Given the description of an element on the screen output the (x, y) to click on. 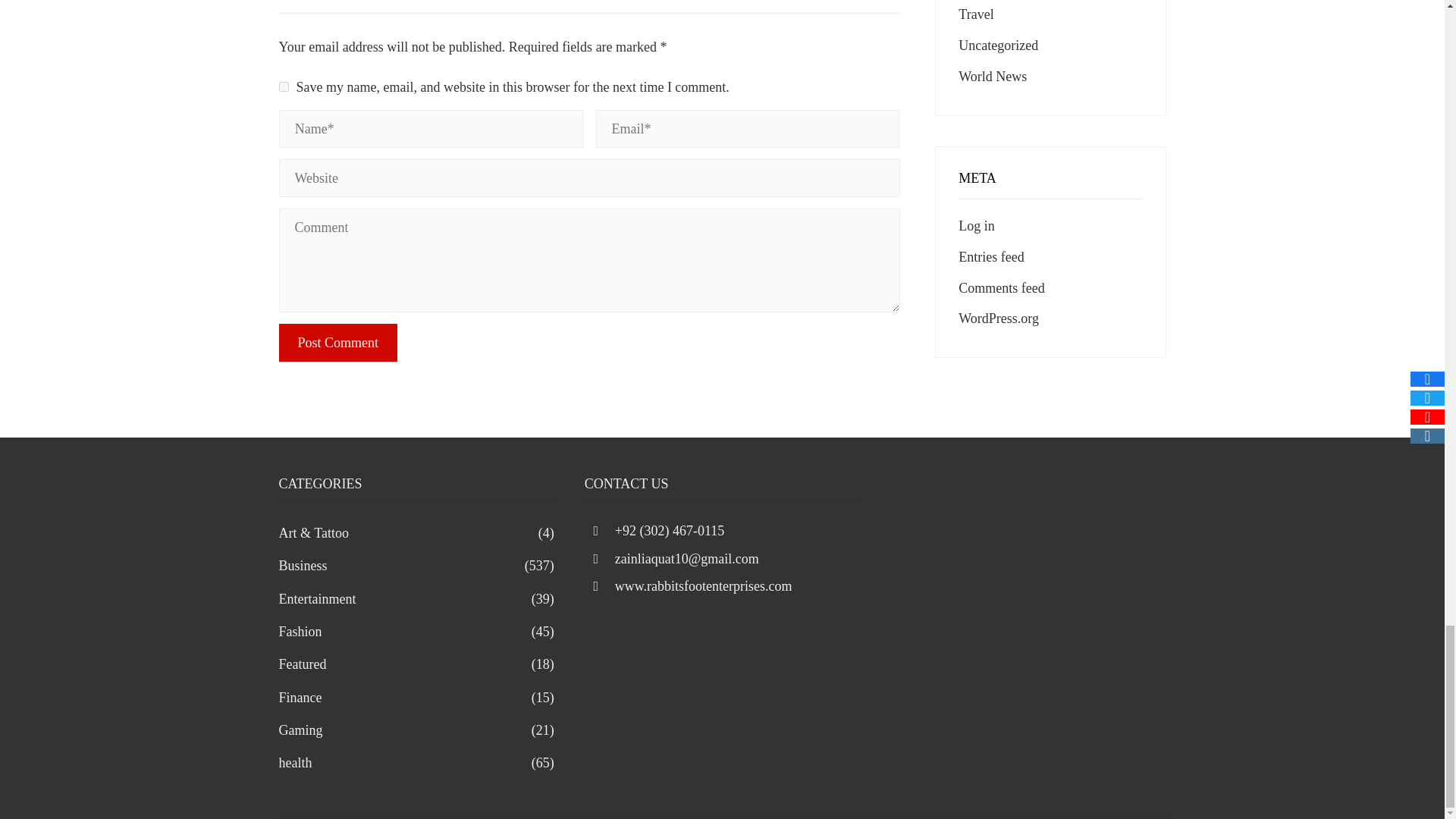
yes (283, 86)
Post Comment (338, 342)
